Given the description of an element on the screen output the (x, y) to click on. 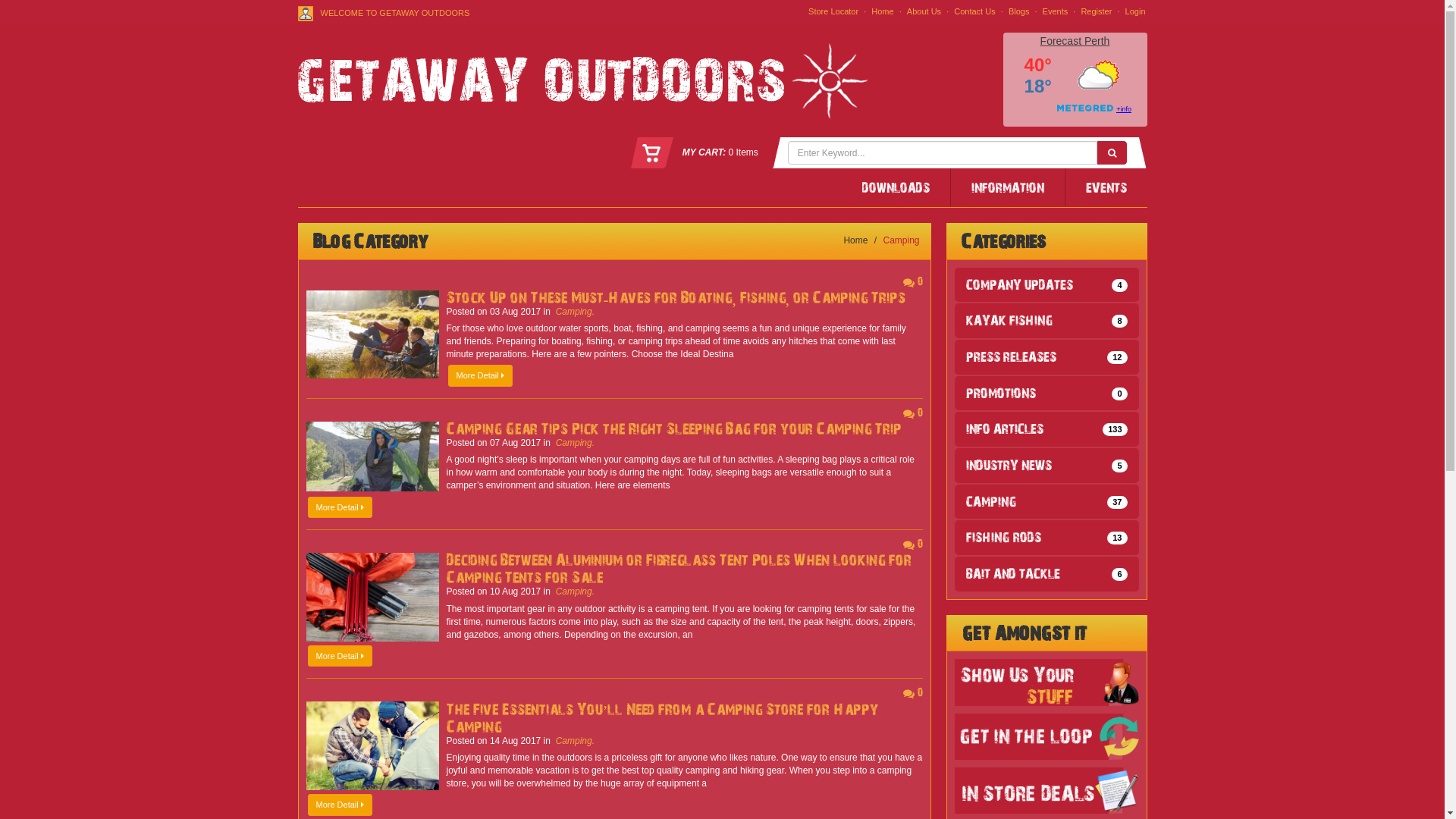
INDUSTRY NEWS
5 Element type: text (1045, 465)
Store Locator Element type: text (833, 12)
Home Element type: hover (582, 80)
INFORMATION Element type: text (1007, 187)
Home Element type: text (882, 12)
Events Element type: text (1055, 12)
EVENTS Element type: text (1105, 187)
Camping. Element type: text (574, 591)
Camping. Element type: text (574, 442)
FISHING RODS
13 Element type: text (1045, 537)
My-Cart Element type: hover (651, 154)
More Detail Element type: text (339, 656)
Login Element type: text (1135, 12)
0 Element type: text (912, 412)
PRESS RELEASES
12 Element type: text (1045, 356)
Blogs Element type: text (1018, 12)
KAYAK FISHING
8 Element type: text (1045, 320)
More Detail Element type: text (339, 507)
Home Element type: text (855, 240)
0 Element type: text (912, 280)
Perth Element type: text (1096, 40)
COMPANY UPDATES
4 Element type: text (1045, 283)
0 Element type: text (912, 691)
Camping. Element type: text (574, 311)
INFO ARTICLES
133 Element type: text (1045, 428)
CAMPING
37 Element type: text (1045, 501)
Logo Getaway Outdoor Element type: hover (582, 81)
DOWNLOADS Element type: text (895, 187)
Camping. Element type: text (574, 740)
Contact Us Element type: text (973, 12)
Register Element type: text (1095, 12)
0 Element type: text (912, 543)
About Us Element type: text (923, 12)
More Detail Element type: text (339, 804)
BAIT AND TACKLE
6 Element type: text (1045, 573)
More Detail Element type: text (479, 375)
PROMOTIONS
0 Element type: text (1045, 393)
My-Cart Element type: hover (651, 153)
